Given the description of an element on the screen output the (x, y) to click on. 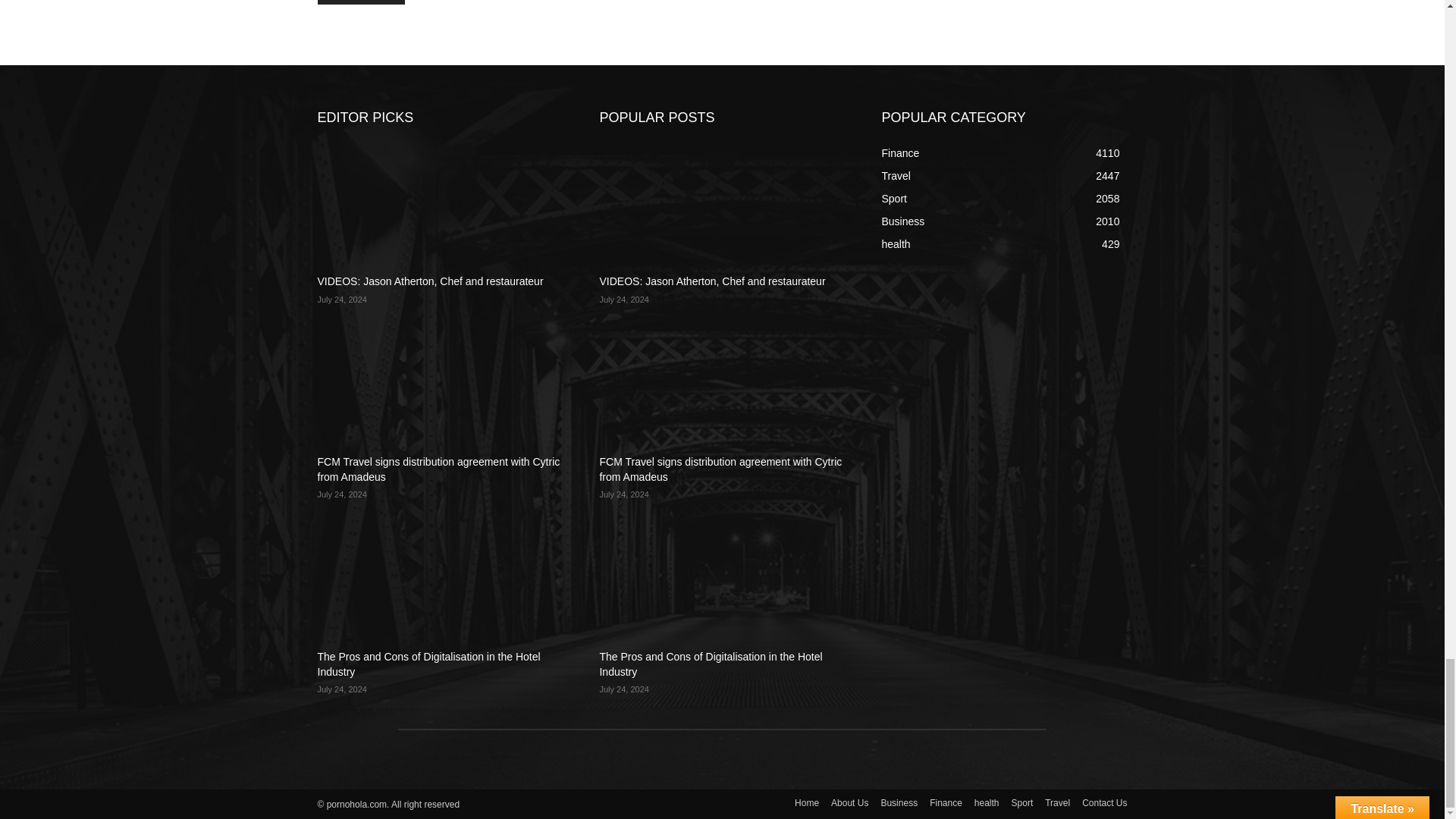
Post Comment (360, 2)
